Given the description of an element on the screen output the (x, y) to click on. 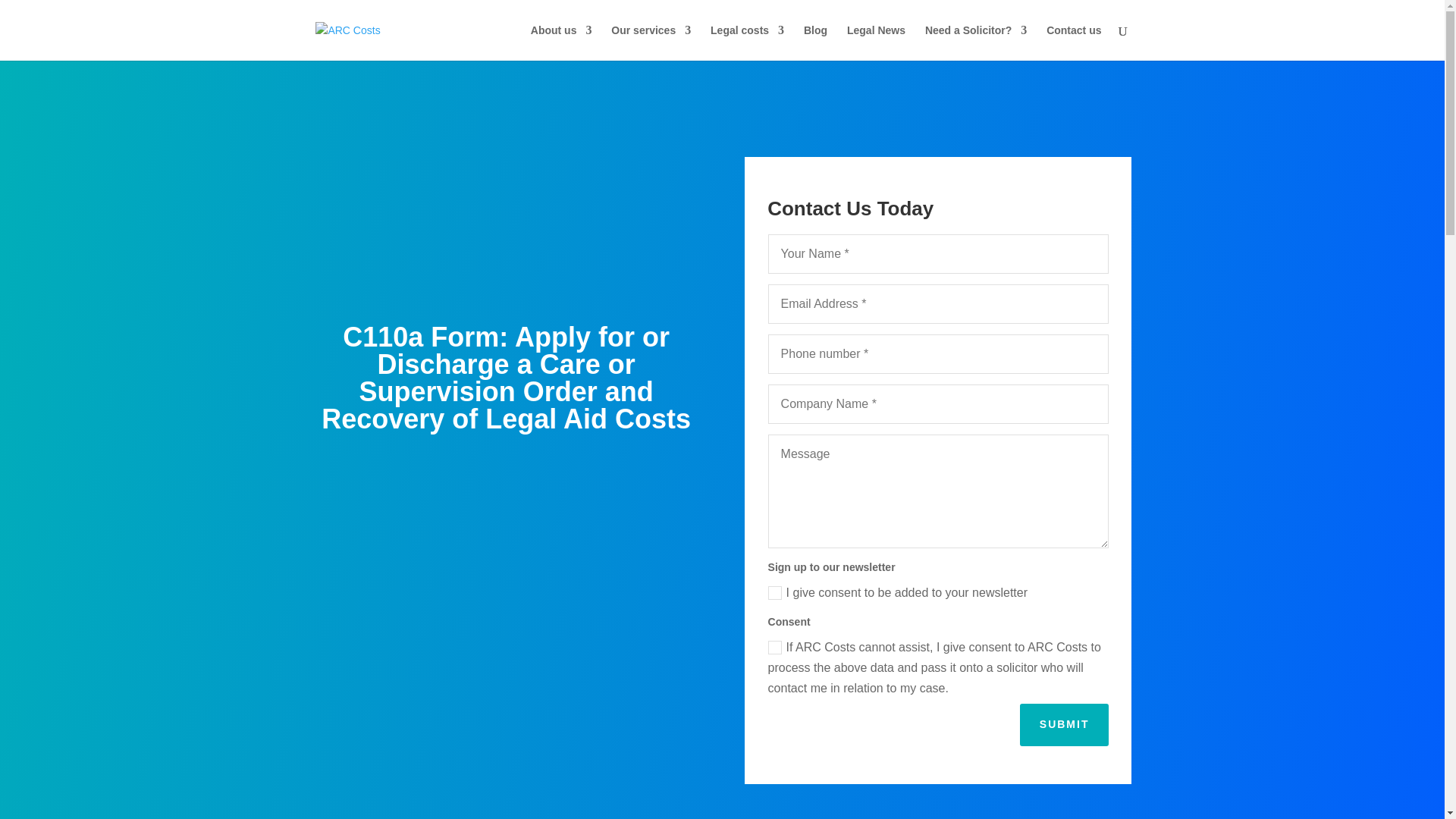
About us (561, 42)
Only letters allowed. (938, 253)
Our services (650, 42)
Legal costs (747, 42)
